Given the description of an element on the screen output the (x, y) to click on. 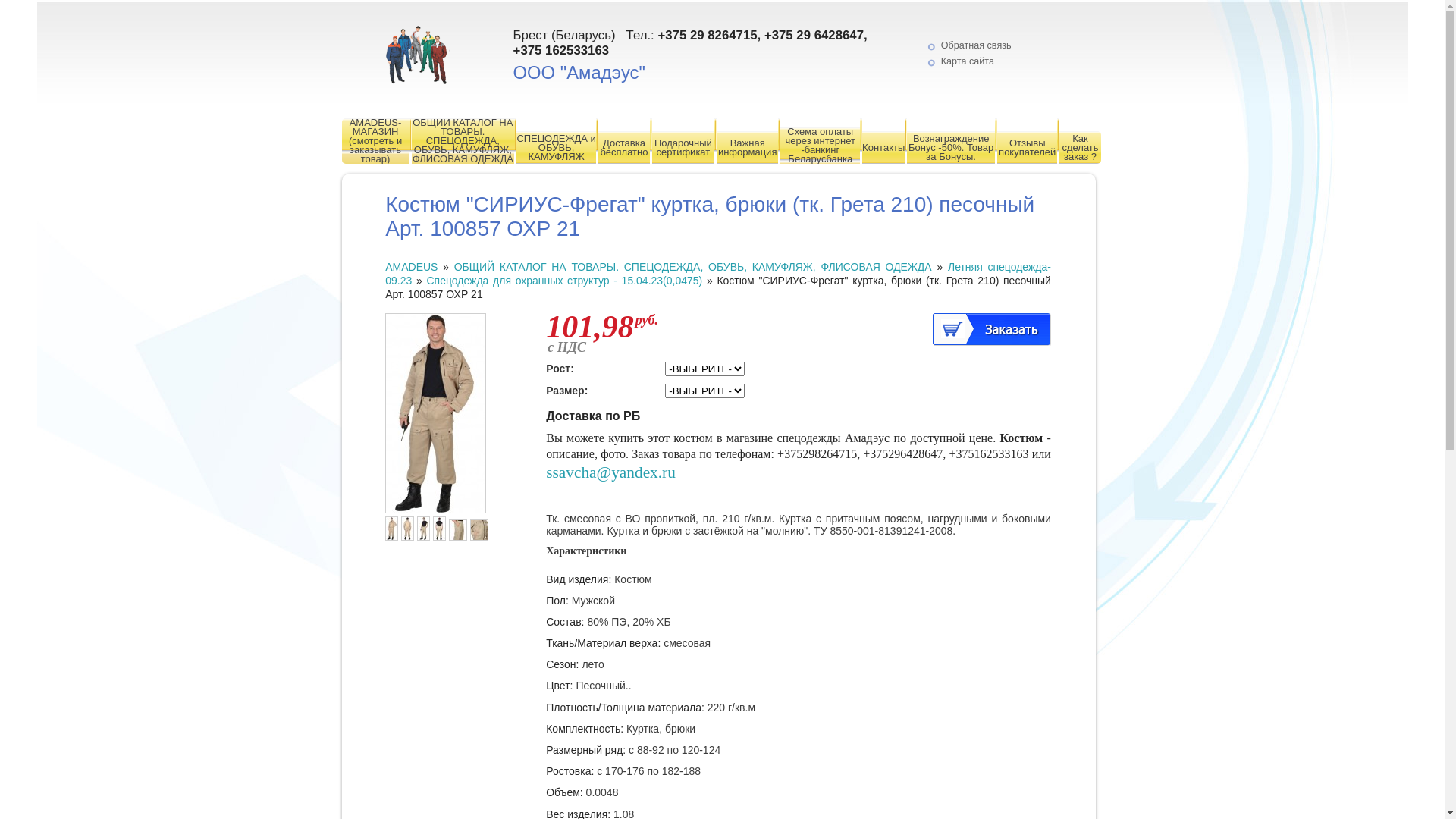
AMADEUS Element type: text (411, 266)
ssavcha@yandex.ru Element type: text (610, 473)
